Given the description of an element on the screen output the (x, y) to click on. 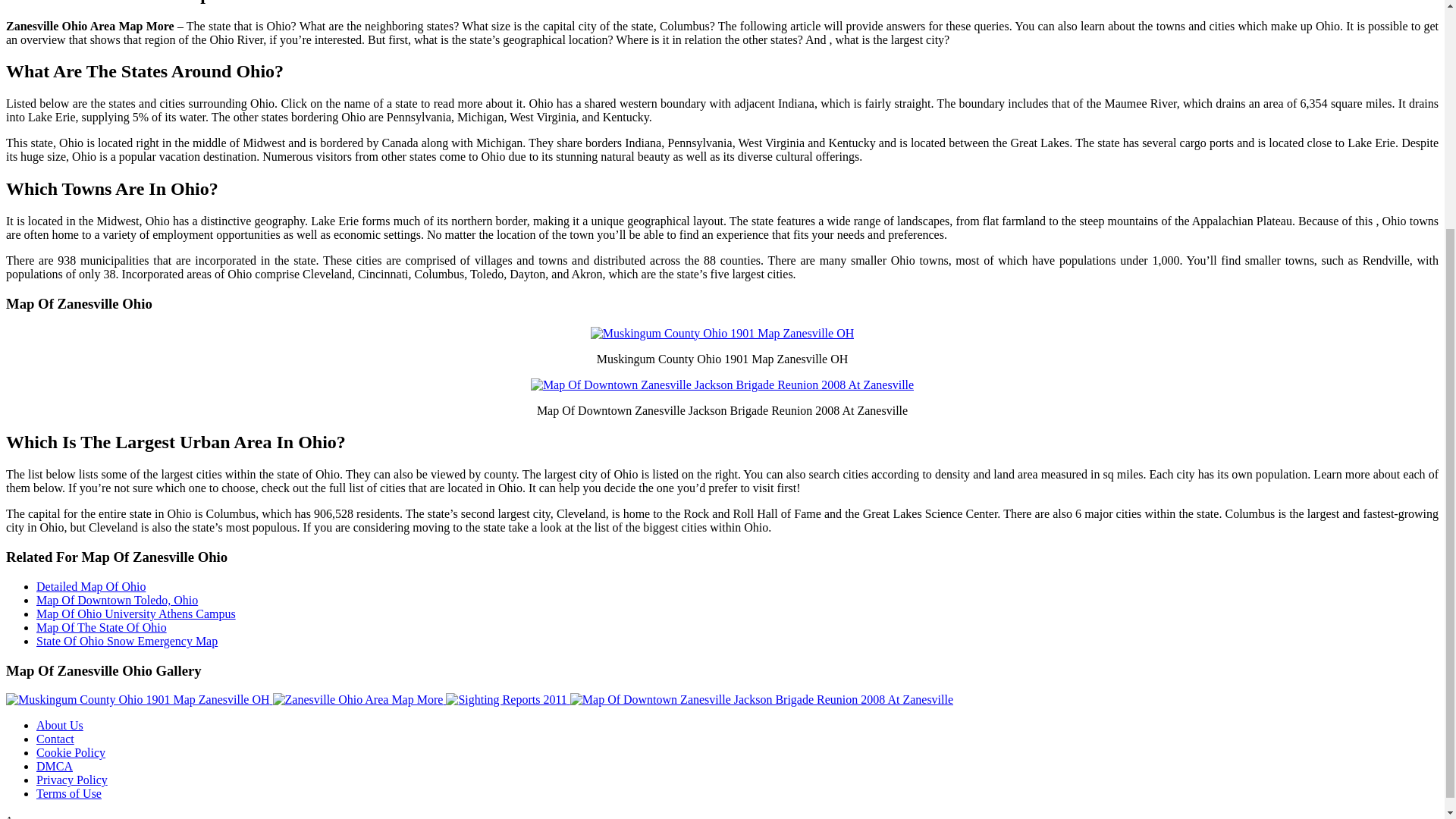
Zanesville Ohio Area Map More (358, 699)
Map Of Downtown Toledo, Ohio (117, 599)
Terms of Use (68, 793)
About Us (59, 725)
Map Of The State Of Ohio (101, 626)
Zanesville Ohio Area Map More (359, 698)
Contact (55, 738)
muskingum county ohio 1901 map zanesville oh (722, 333)
Privacy Policy (71, 779)
Muskingum County Ohio 1901 Map Zanesville OH (139, 698)
